Given the description of an element on the screen output the (x, y) to click on. 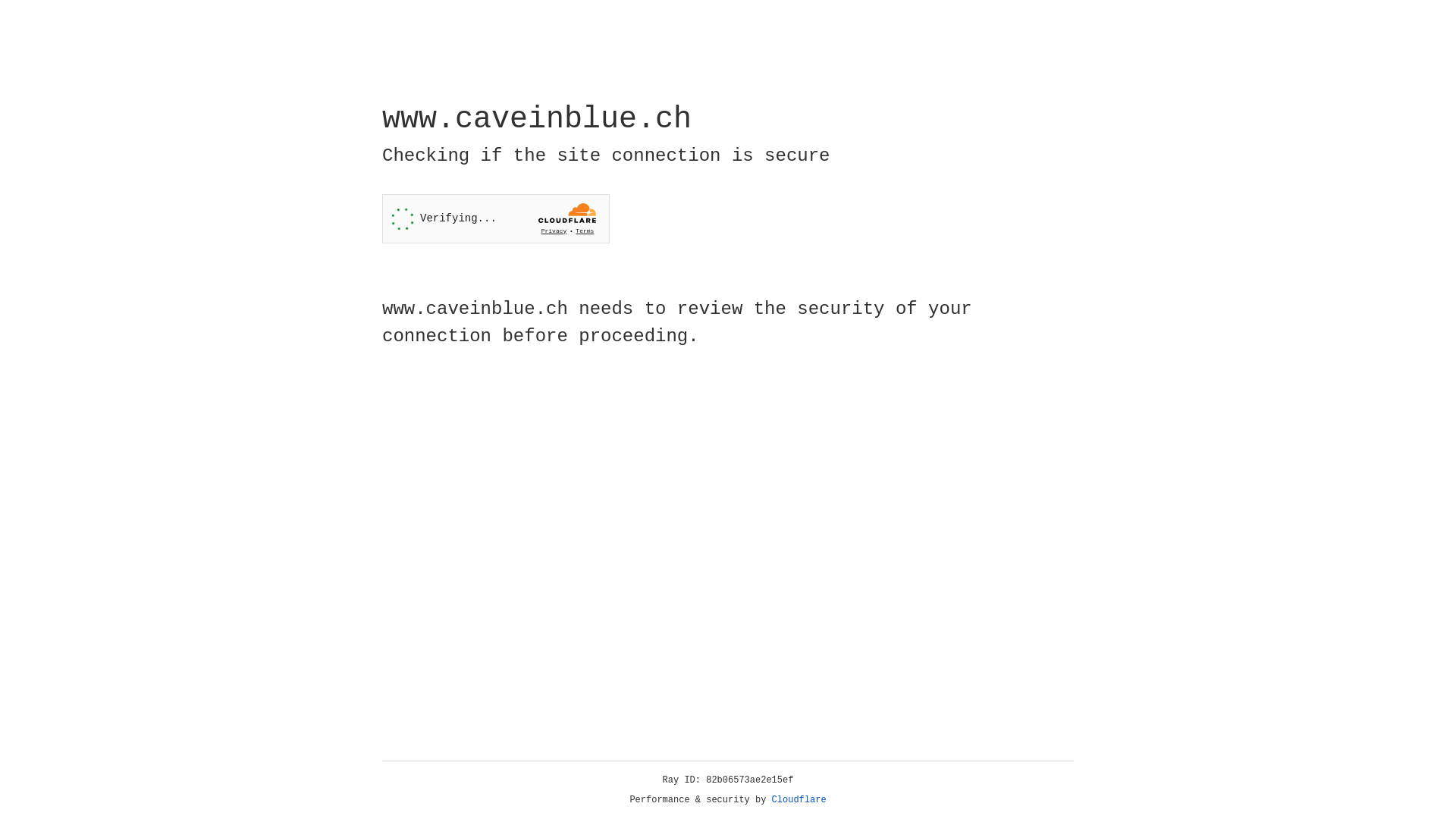
Widget containing a Cloudflare security challenge Element type: hover (495, 218)
Cloudflare Element type: text (798, 799)
